Given the description of an element on the screen output the (x, y) to click on. 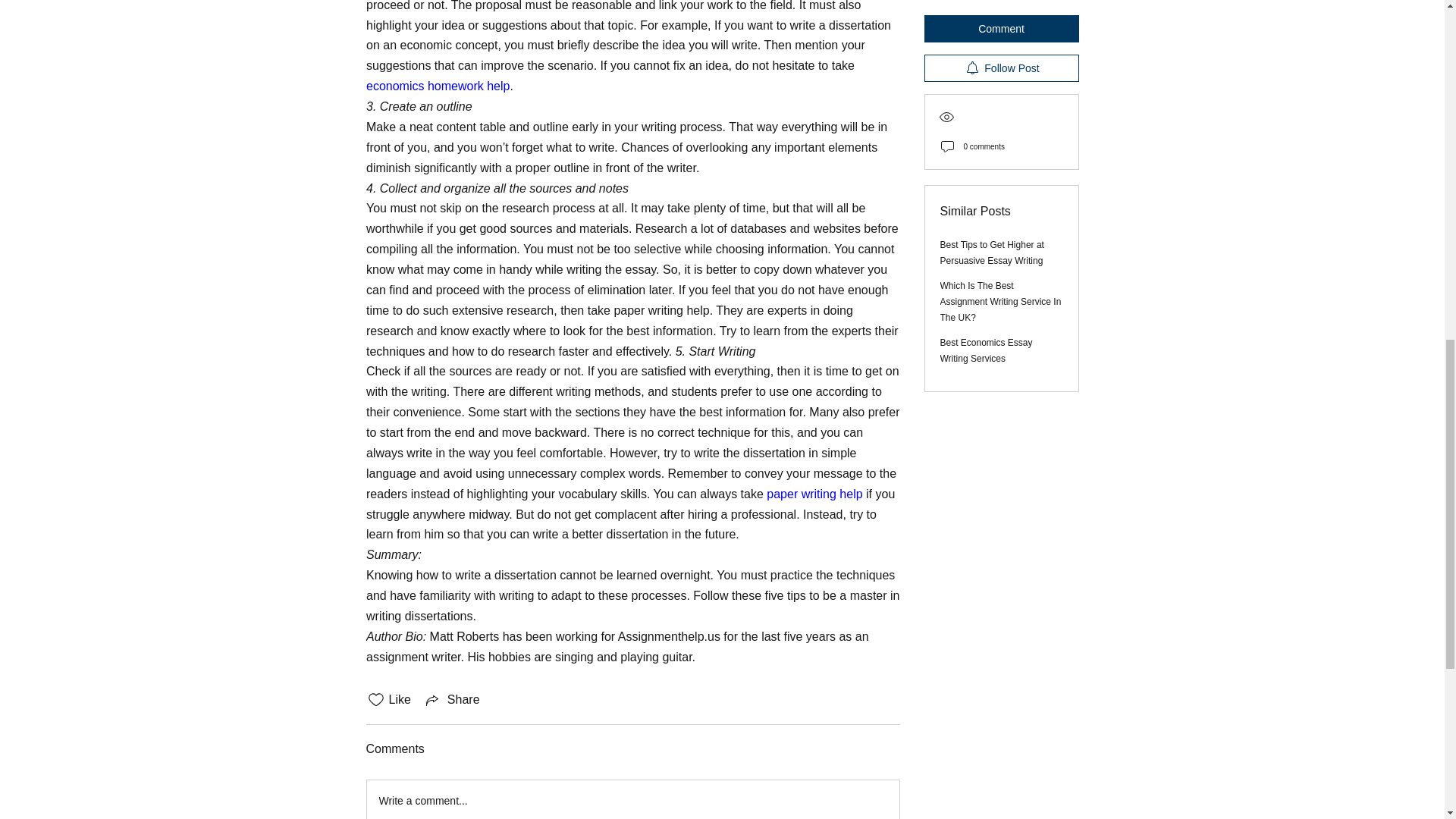
economics homework help (436, 85)
paper writing help (814, 493)
Write a comment... (632, 799)
Share (451, 700)
